Given the description of an element on the screen output the (x, y) to click on. 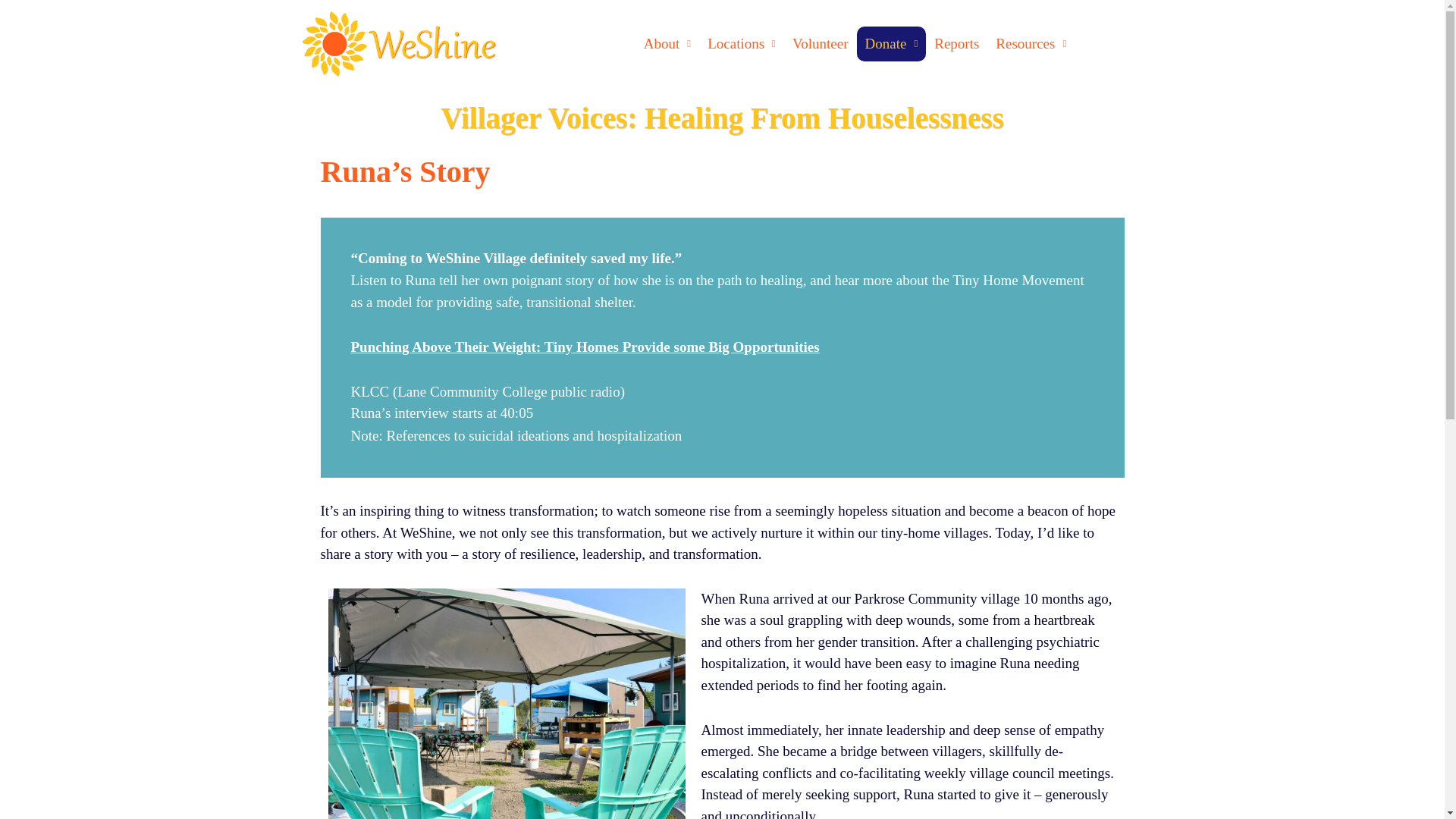
Resources (1030, 43)
Locations (741, 43)
Donate (891, 43)
Volunteer (820, 43)
Reports (956, 43)
About (666, 43)
